Given the description of an element on the screen output the (x, y) to click on. 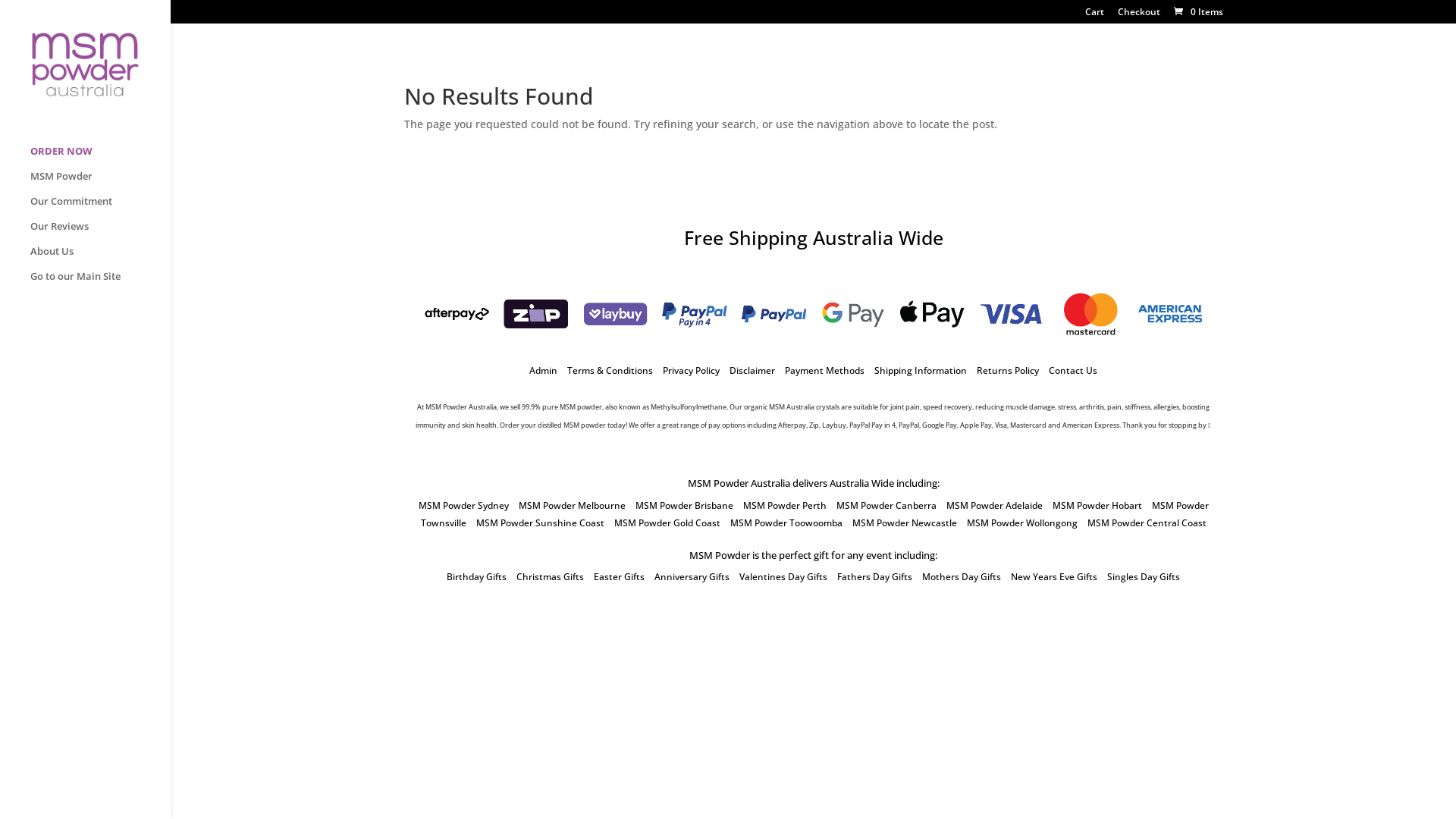
Birthday Gifts Element type: text (476, 576)
Contact Us Element type: text (1072, 370)
MSM Powder Newcastle Element type: text (904, 522)
MSM Powder Canberra Element type: text (885, 504)
MSM Powder Brisbane Element type: text (684, 504)
Go to our Main Site Element type: text (100, 282)
Mothers Day Gifts Element type: text (961, 576)
Payment Methods Element type: text (824, 370)
ORDER NOW Element type: text (100, 157)
Cart Element type: text (1093, 15)
MSM Powder Adelaide Element type: text (994, 504)
MSM Powder Melbourne Element type: text (571, 504)
MSM Powder Townsville Element type: text (814, 514)
Anniversary Gifts Element type: text (691, 576)
Our Reviews Element type: text (100, 232)
About Us Element type: text (100, 257)
Fathers Day Gifts Element type: text (874, 576)
Christmas Gifts Element type: text (549, 576)
MSM Powder Perth Element type: text (784, 504)
MSM Powder Element type: text (100, 182)
Easter Gifts Element type: text (618, 576)
MSM Powder Gold Coast Element type: text (667, 522)
Shipping Information Element type: text (920, 370)
Valentines Day Gifts Element type: text (783, 576)
MSM Powder Wollongong Element type: text (1021, 522)
Admin Element type: text (543, 370)
New Years Eve Gifts Element type: text (1053, 576)
Returns Policy Element type: text (1007, 370)
0 Items Element type: text (1196, 11)
Privacy Policy Element type: text (690, 370)
Disclaimer Element type: text (752, 370)
Terms & Conditions Element type: text (609, 370)
MSM Powder Central Coast Element type: text (1146, 522)
MSM Powder Toowoomba Element type: text (785, 522)
Checkout Element type: text (1138, 15)
MSM Powder Sydney Element type: text (463, 504)
MSM Powder Sunshine Coast Element type: text (540, 522)
MSM Powder Hobart Element type: text (1097, 504)
Singles Day Gifts Element type: text (1143, 576)
Our Commitment Element type: text (100, 207)
